Given the description of an element on the screen output the (x, y) to click on. 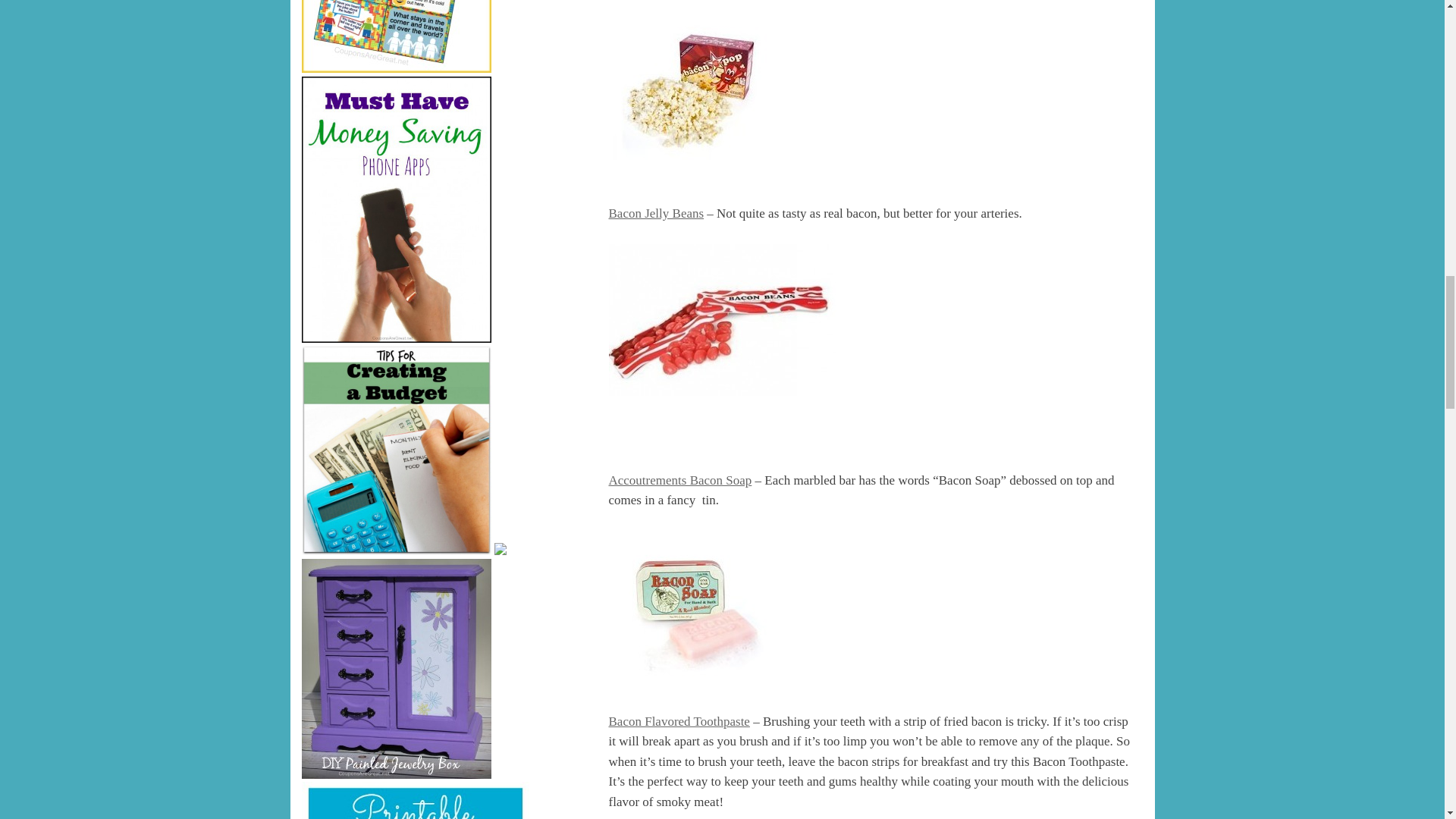
Bacon Flavored Toothpaste (678, 721)
Bacon Jelly Beans (655, 213)
bacon-popcorn (698, 91)
Accoutrements Bacon Soap (679, 480)
bacon-jelly-beans (721, 319)
bacon-soap (700, 607)
